Given the description of an element on the screen output the (x, y) to click on. 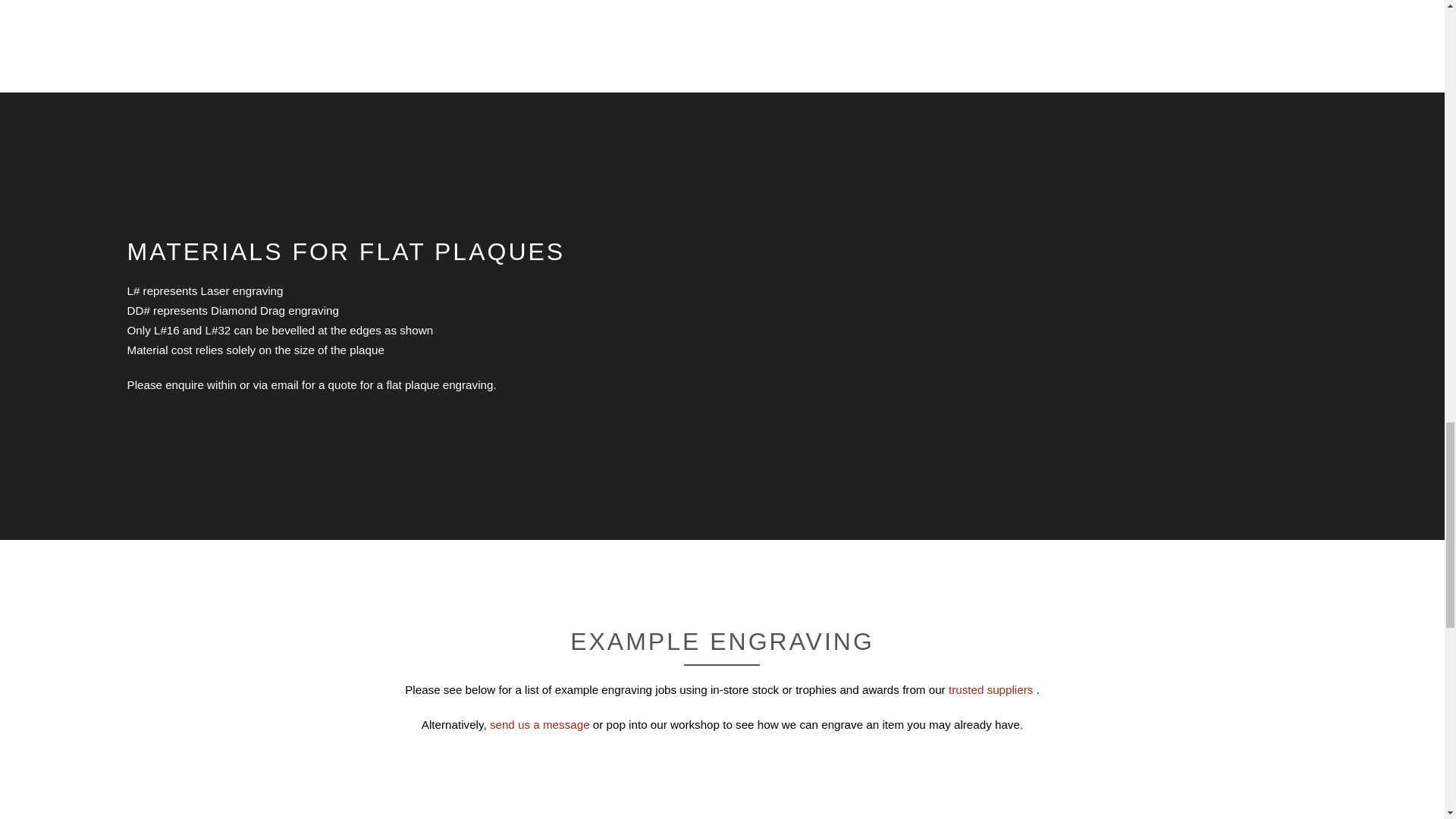
send us a message (540, 724)
email (285, 384)
trusted suppliers (992, 689)
